Given the description of an element on the screen output the (x, y) to click on. 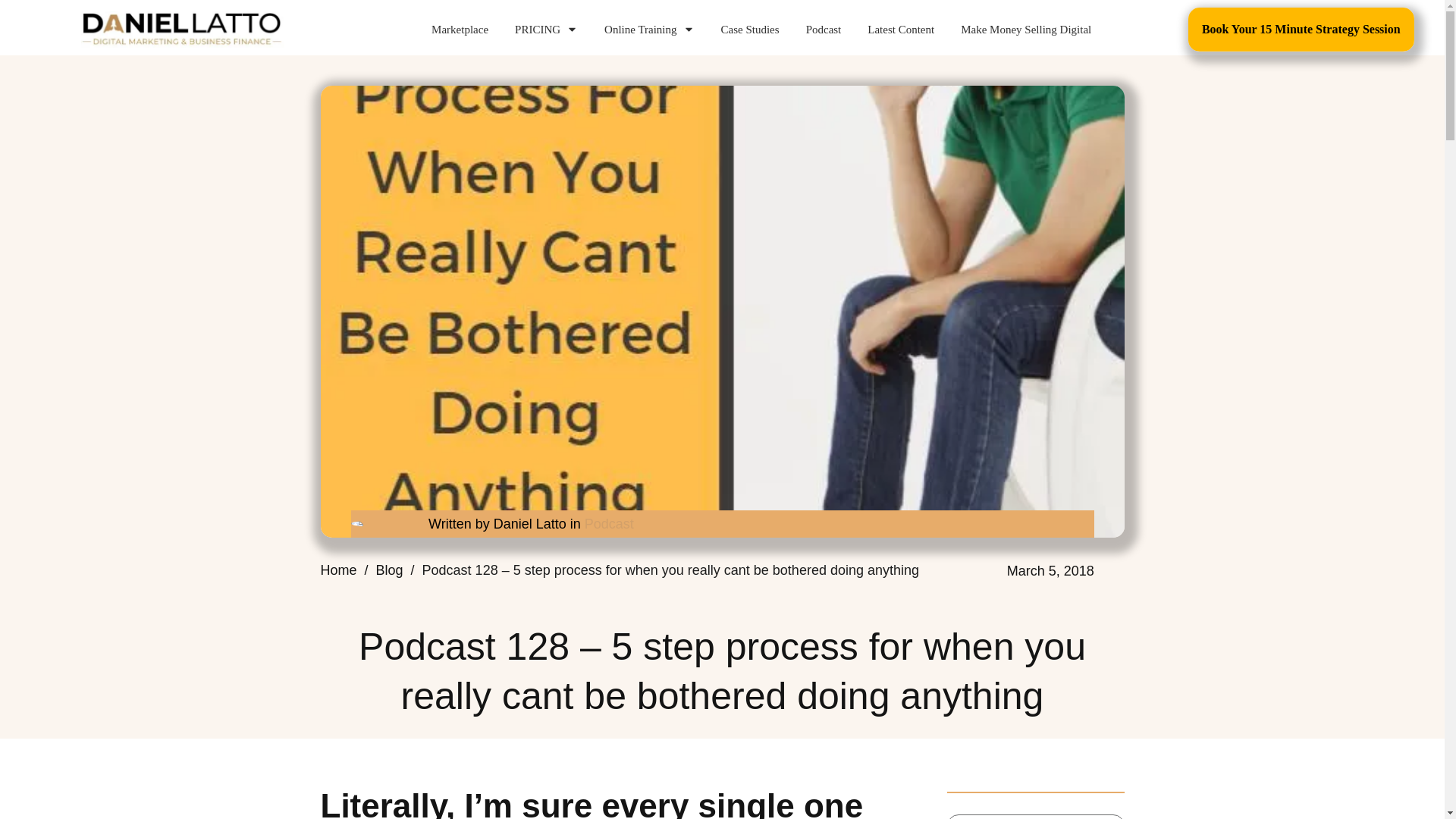
Case Studies (749, 29)
PRICING (546, 29)
Podcast (609, 523)
Home (338, 569)
Book Your 15 Minute Strategy Session (1300, 29)
Marketplace (458, 29)
Make Money Selling Digital (1025, 29)
Podcast (609, 523)
Blog (389, 569)
Online Training (649, 29)
Podcast (823, 29)
Latest Content (900, 29)
